Given the description of an element on the screen output the (x, y) to click on. 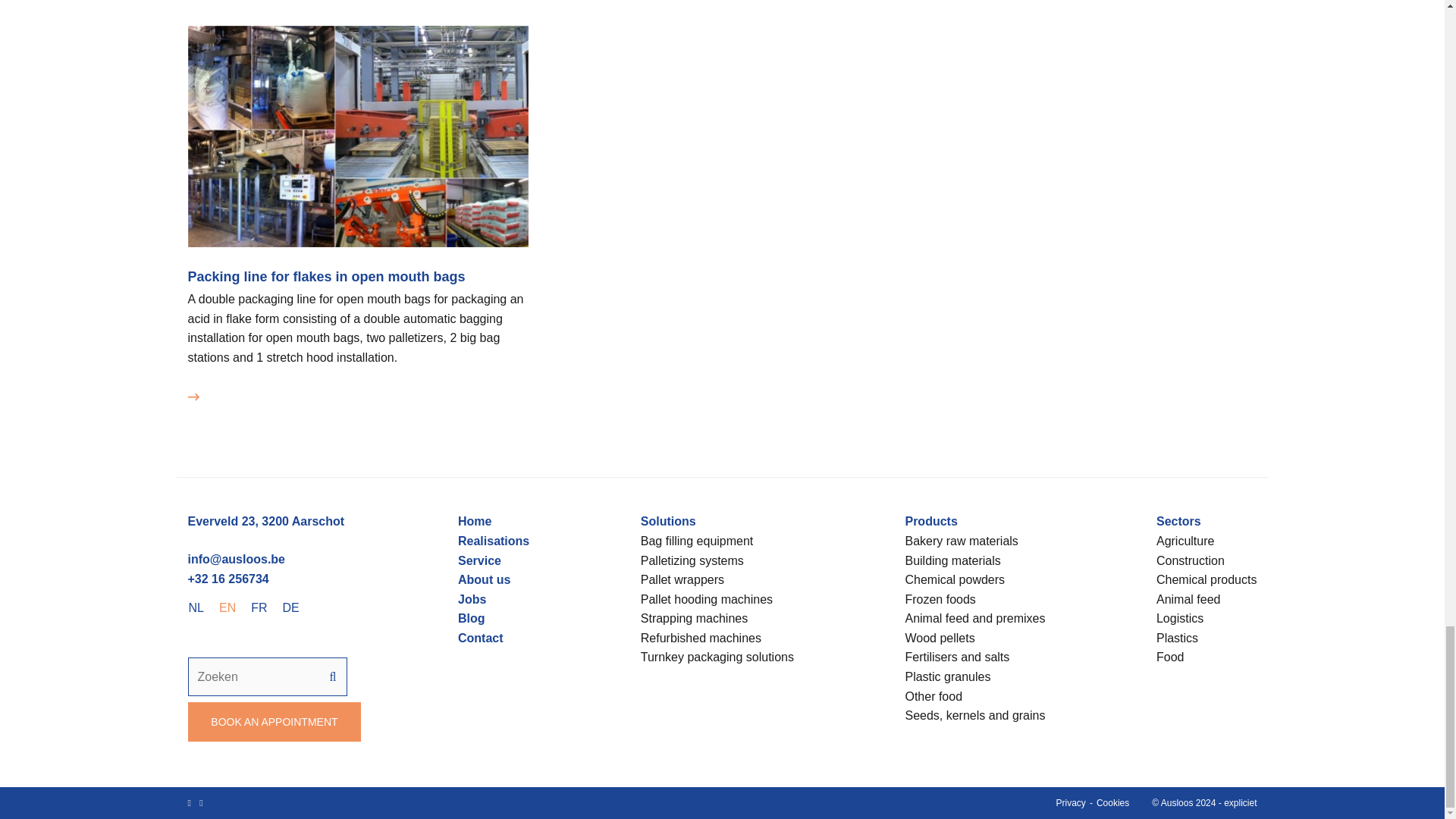
expliciet communicatie (1240, 802)
